Given the description of an element on the screen output the (x, y) to click on. 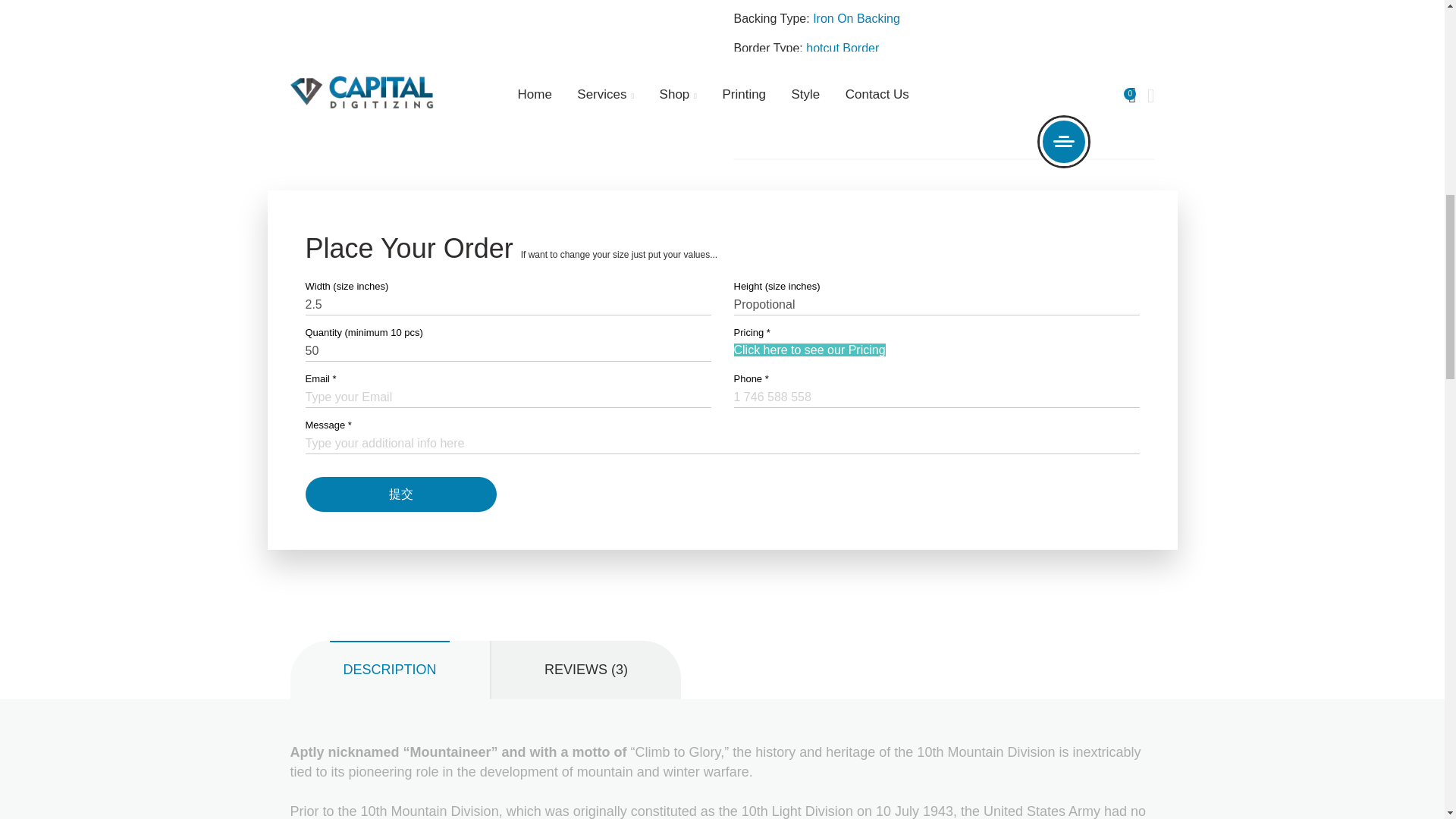
2.5 (507, 304)
Propotional (936, 304)
50 (507, 351)
